Given the description of an element on the screen output the (x, y) to click on. 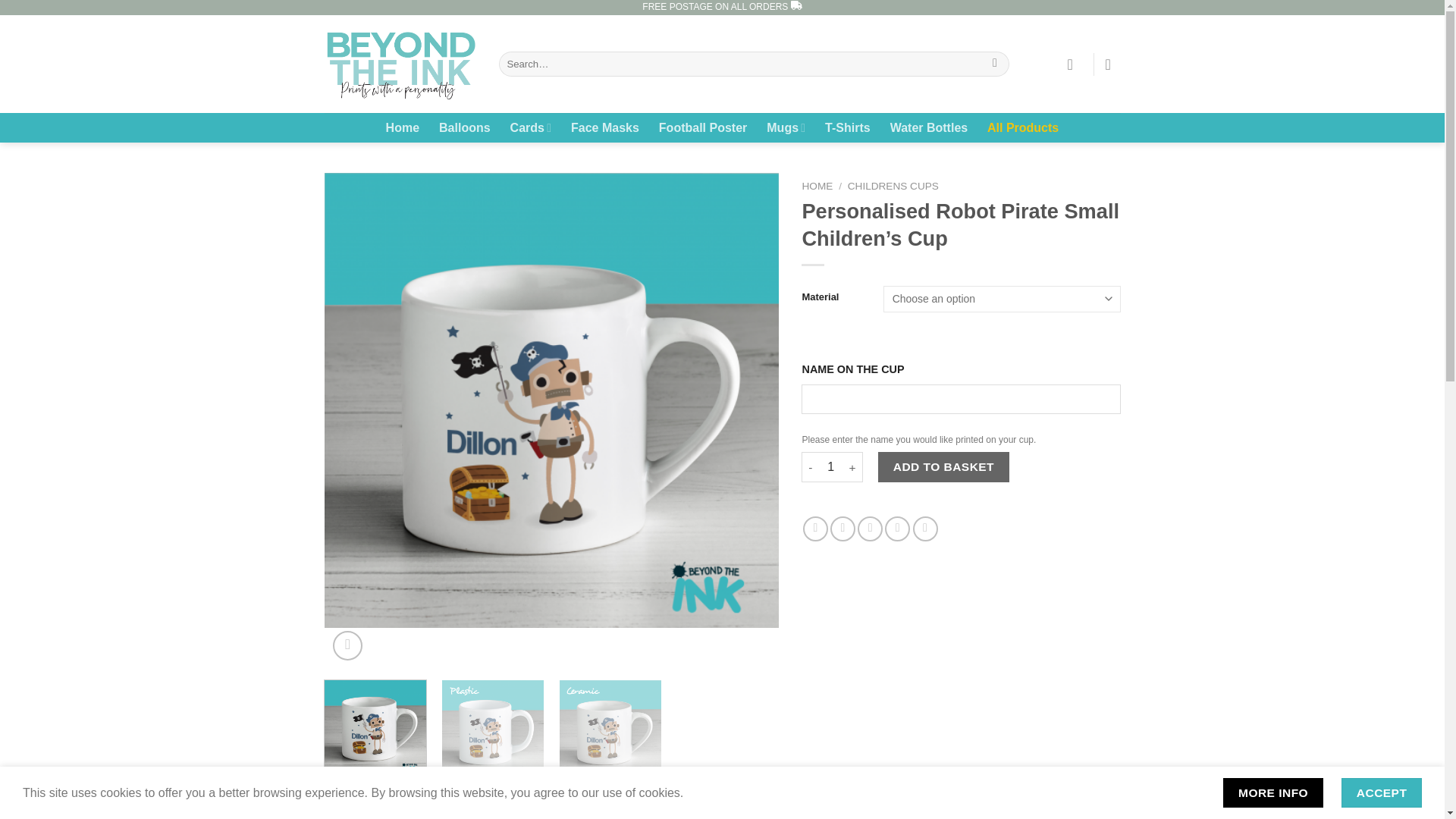
Search (994, 63)
Cards (531, 127)
Email to a Friend (869, 528)
Share on Twitter (842, 528)
Balloons (464, 127)
Zoom (347, 645)
Share on LinkedIn (924, 528)
Share on Facebook (815, 528)
Home (402, 127)
Pin on Pinterest (897, 528)
